Given the description of an element on the screen output the (x, y) to click on. 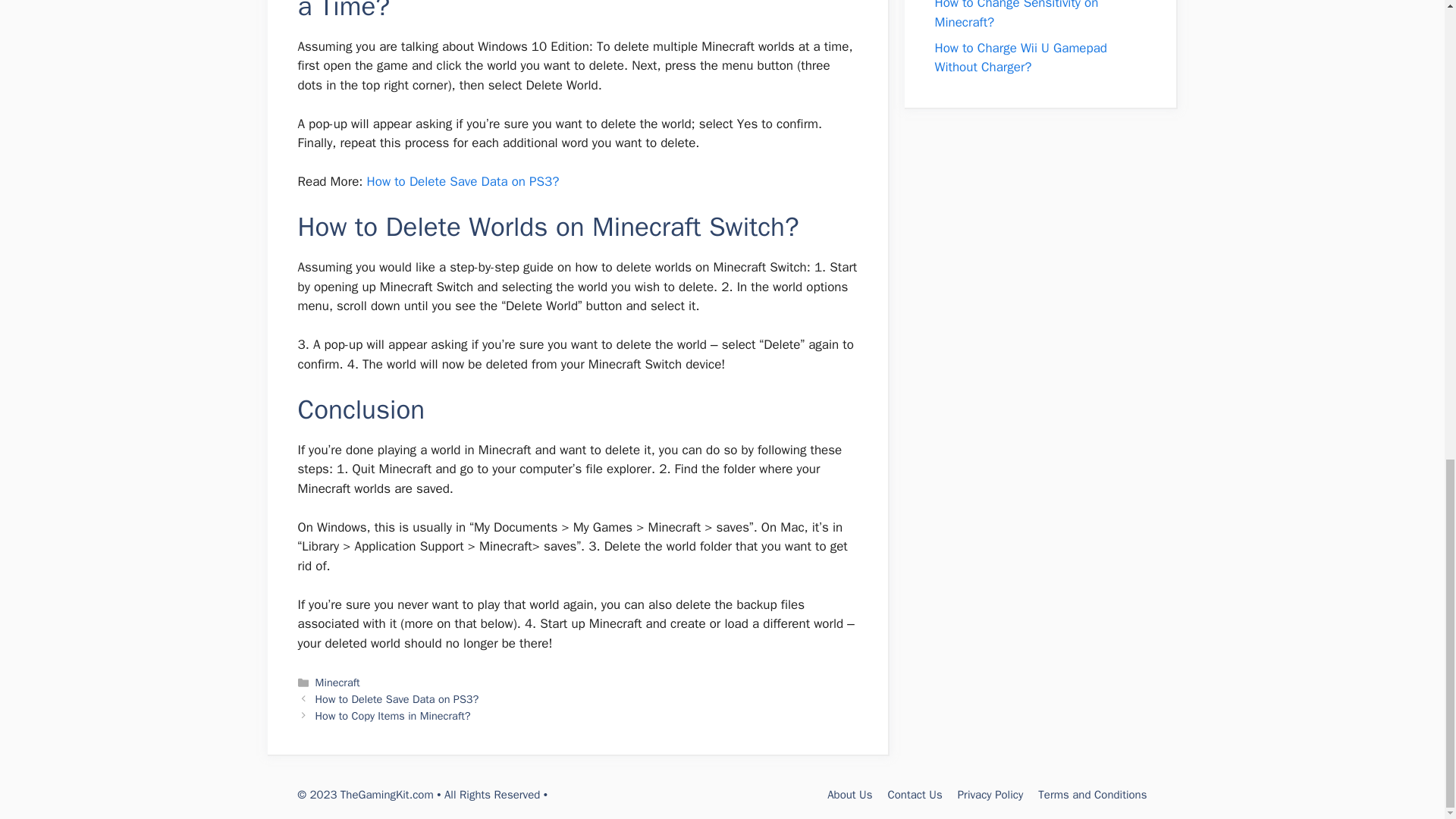
How to Delete Save Data on PS3? (462, 181)
About Us (849, 794)
Contact Us (914, 794)
How to Delete Save Data on PS3? (397, 698)
Scroll back to top (1406, 485)
How to Charge Wii U Gamepad Without Charger? (1020, 58)
Minecraft (337, 682)
Privacy Policy (990, 794)
How to Change Sensitivity on Minecraft? (1015, 15)
How to Copy Items in Minecraft? (392, 715)
